Given the description of an element on the screen output the (x, y) to click on. 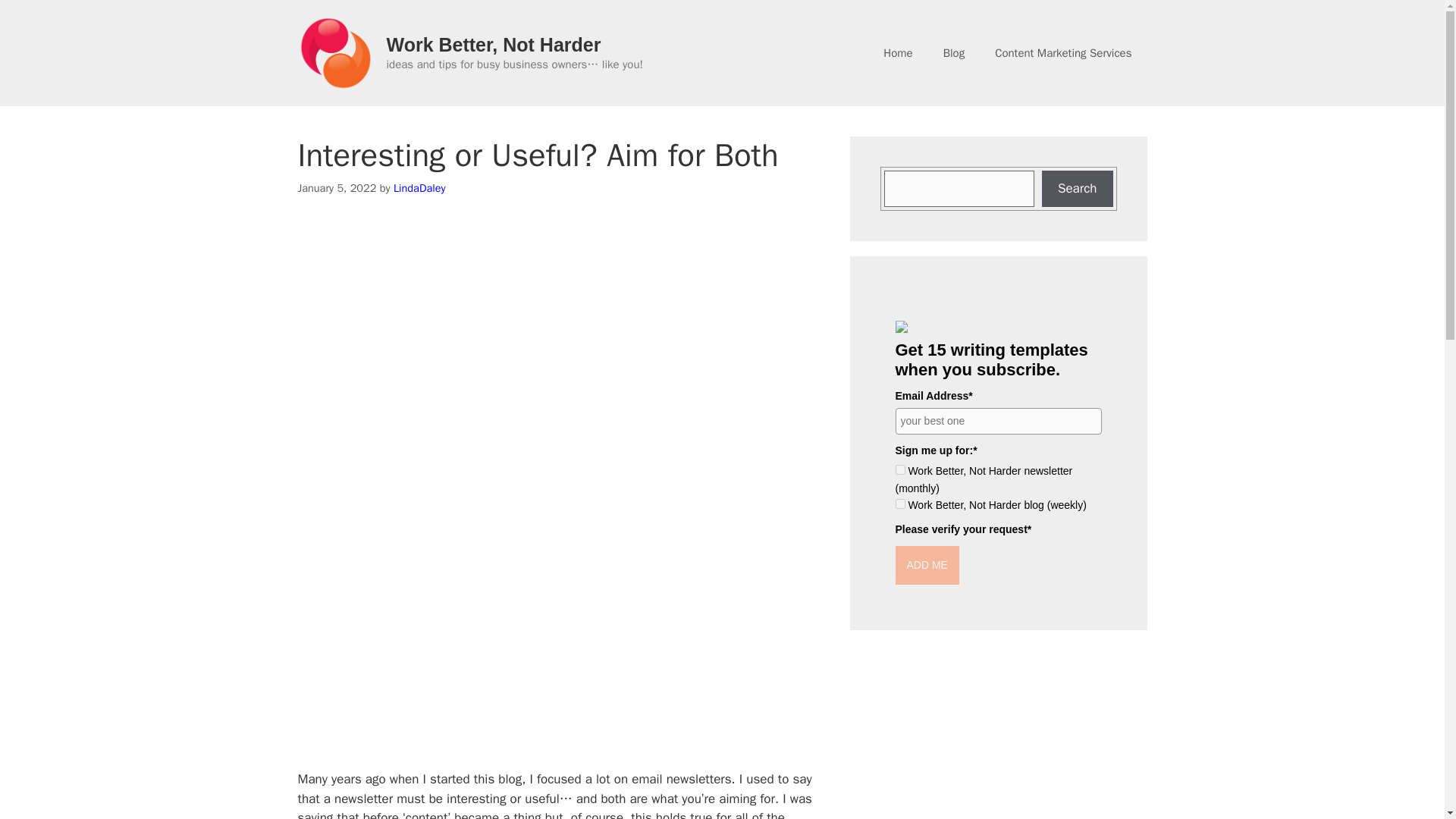
LindaDaley (419, 187)
Blog (953, 53)
View all posts by LindaDaley (419, 187)
1 (899, 470)
2 (899, 503)
Home (897, 53)
Search (1077, 188)
Work Better, Not Harder (494, 44)
Content Marketing Services (1063, 53)
ADD ME (926, 565)
